Given the description of an element on the screen output the (x, y) to click on. 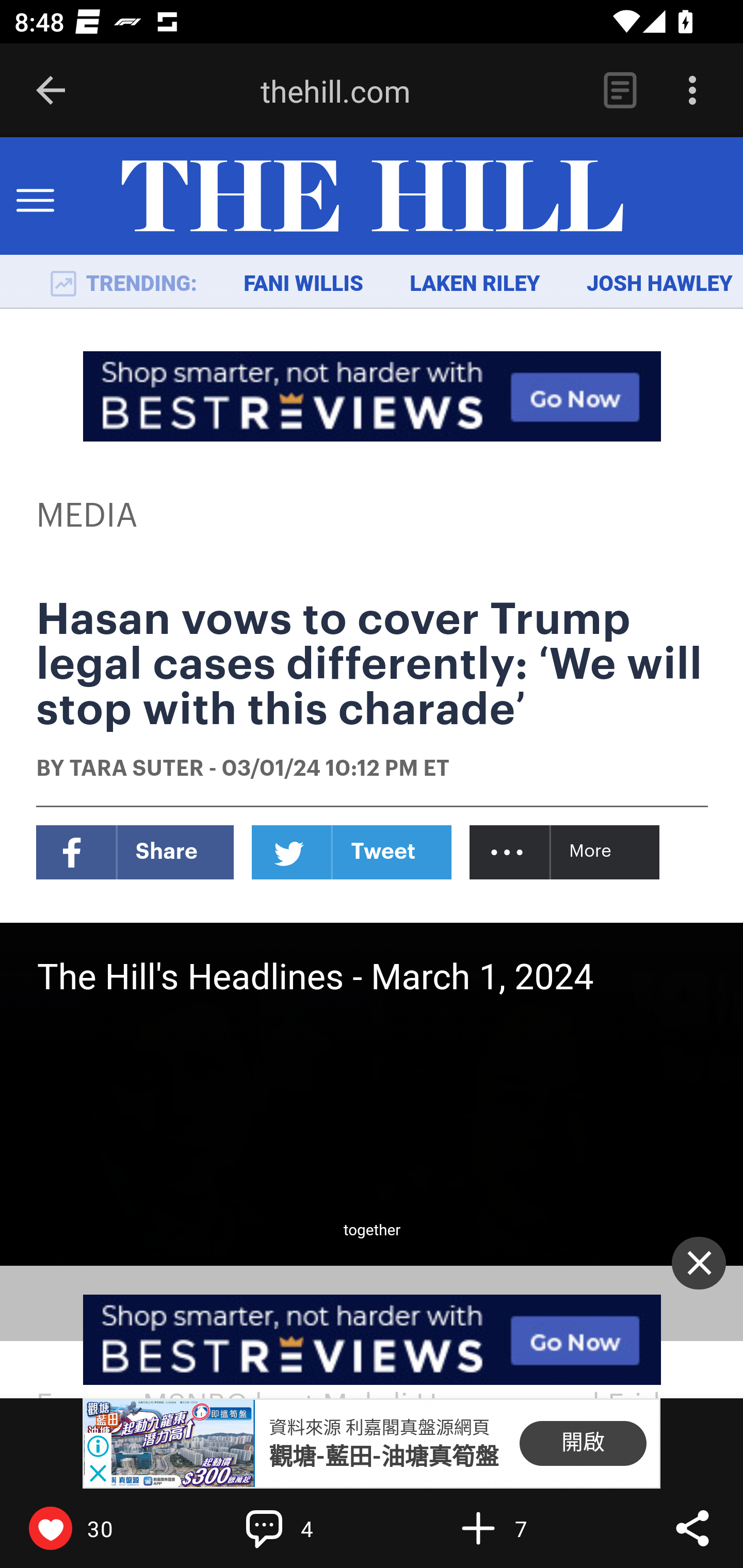
Back (50, 90)
Reader View (619, 90)
Options (692, 90)
Toggle Menu (34, 196)
TheHill.com (371, 196)
FANI WILLIS (303, 284)
LAKEN RILEY (474, 284)
JOSH HAWLEY (659, 284)
MEDIA (87, 516)
Facebook Share Facebook Share (135, 852)
Twitter Tweet Twitter Tweet (352, 852)
... More (565, 852)
✕ (699, 1262)
B29956937 (168, 1443)
資料來源 利嘉閣真盤源網頁 (379, 1427)
開啟 (582, 1443)
觀塘-藍田-油塘真筍盤 (383, 1456)
Like 30 (93, 1528)
Write a comment… 4 (307, 1528)
Flip into Magazine 7 (521, 1528)
Share (692, 1528)
